Given the description of an element on the screen output the (x, y) to click on. 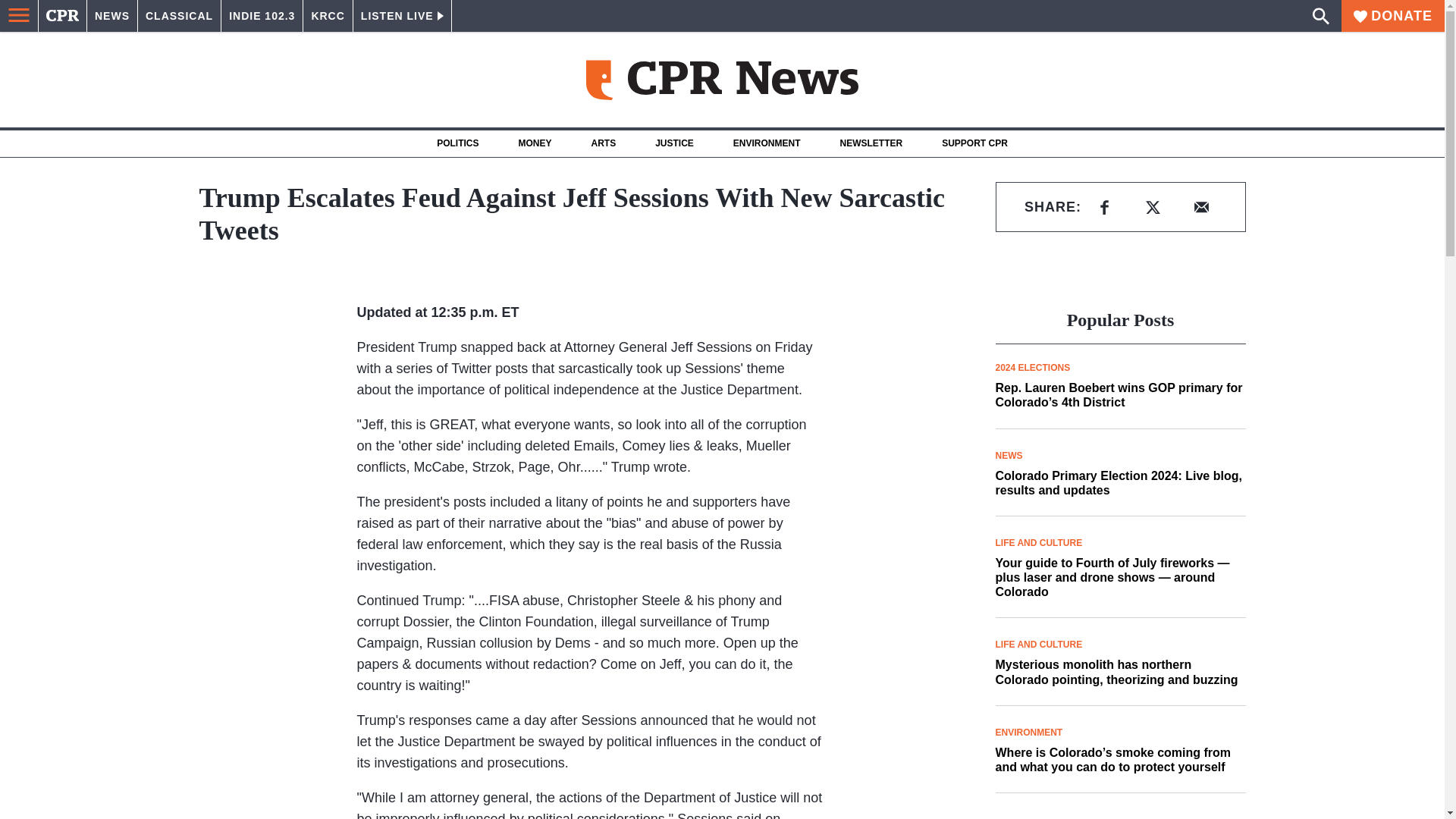
LISTEN LIVE (402, 15)
CLASSICAL (179, 15)
KRCC (327, 15)
NEWS (111, 15)
INDIE 102.3 (261, 15)
